Given the description of an element on the screen output the (x, y) to click on. 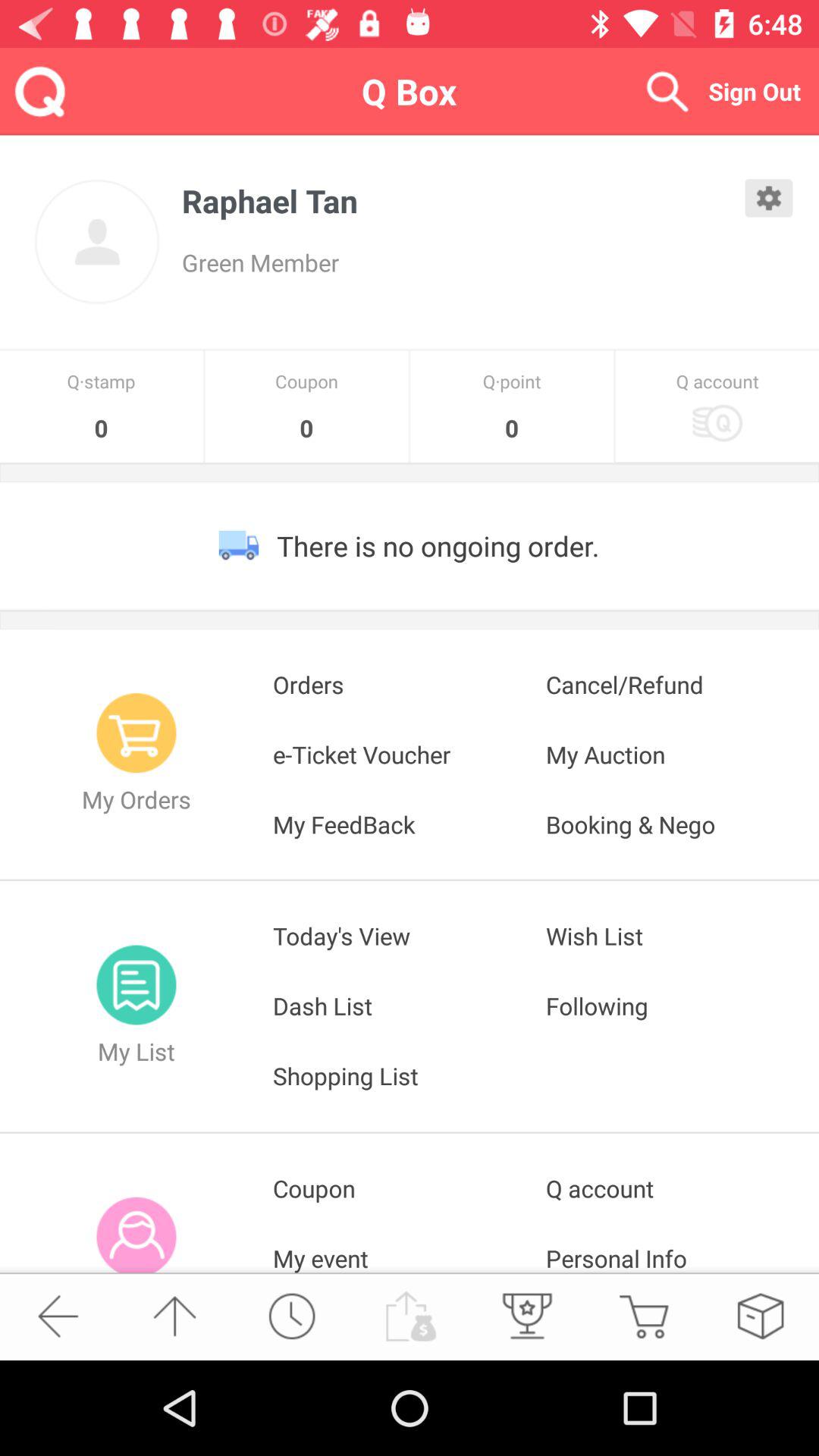
click for wishlist (760, 1316)
